Given the description of an element on the screen output the (x, y) to click on. 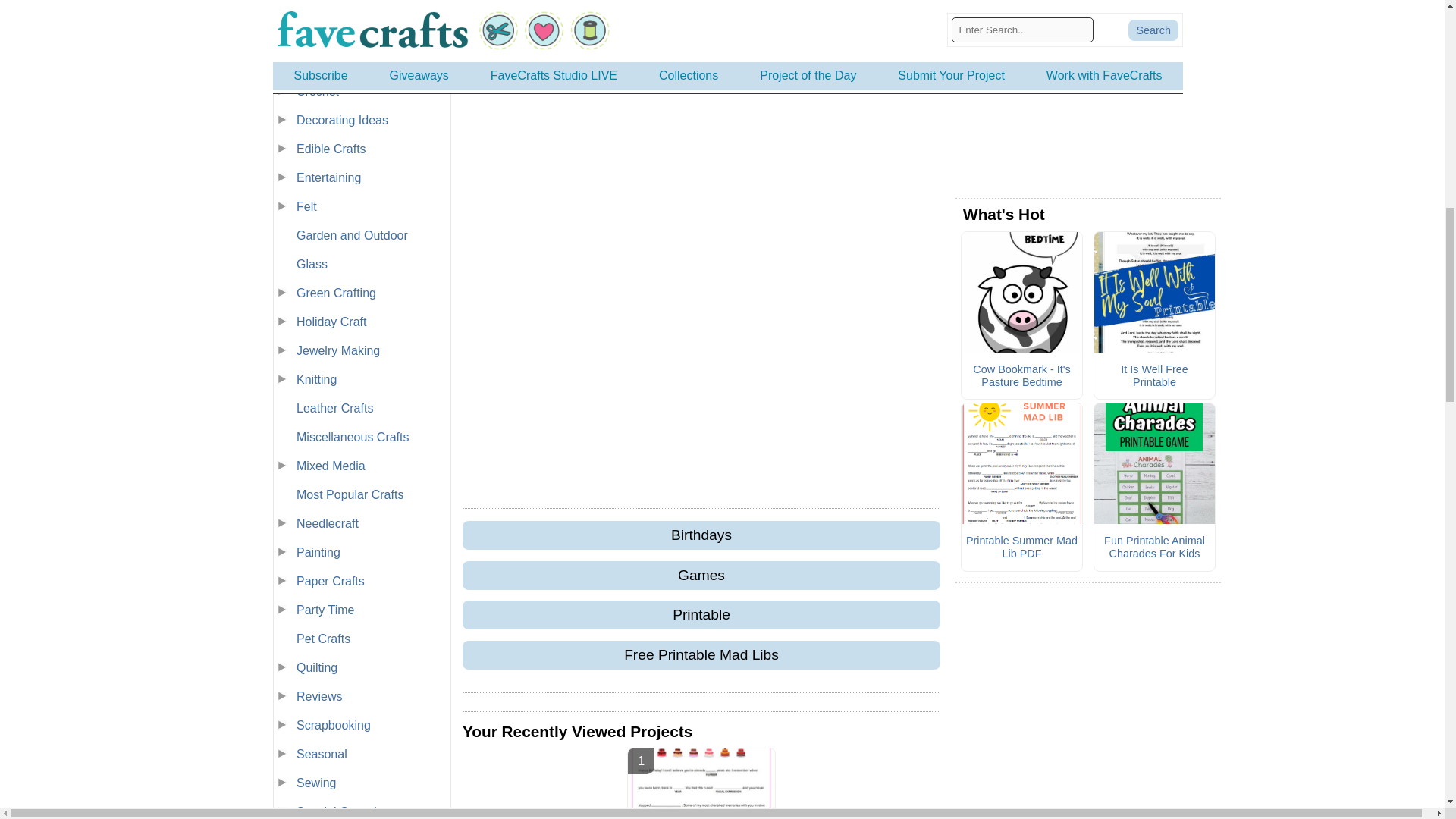
Facebook (641, 29)
Add (880, 29)
Insticator Content Engagement Unit (701, 344)
Email (761, 29)
